Given the description of an element on the screen output the (x, y) to click on. 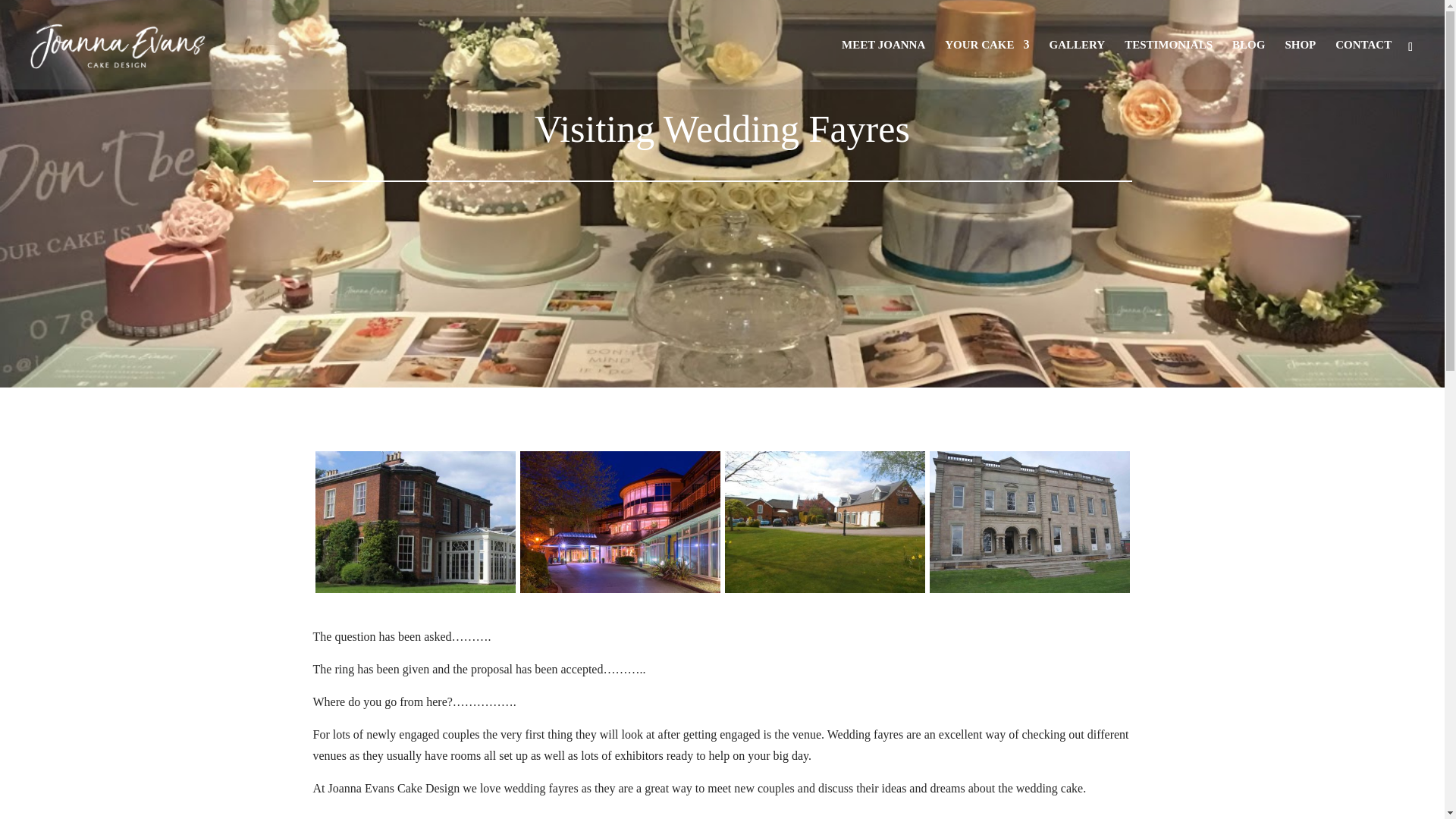
MEET JOANNA (882, 64)
Alfreton Hall (1029, 592)
TESTIMONIALS (1168, 64)
Mickleover Court (619, 592)
CONTACT (1363, 64)
Melborne View Hotel (824, 592)
Dovecliffe Hall Hotel (415, 592)
YOUR CAKE (986, 64)
GALLERY (1077, 64)
